Given the description of an element on the screen output the (x, y) to click on. 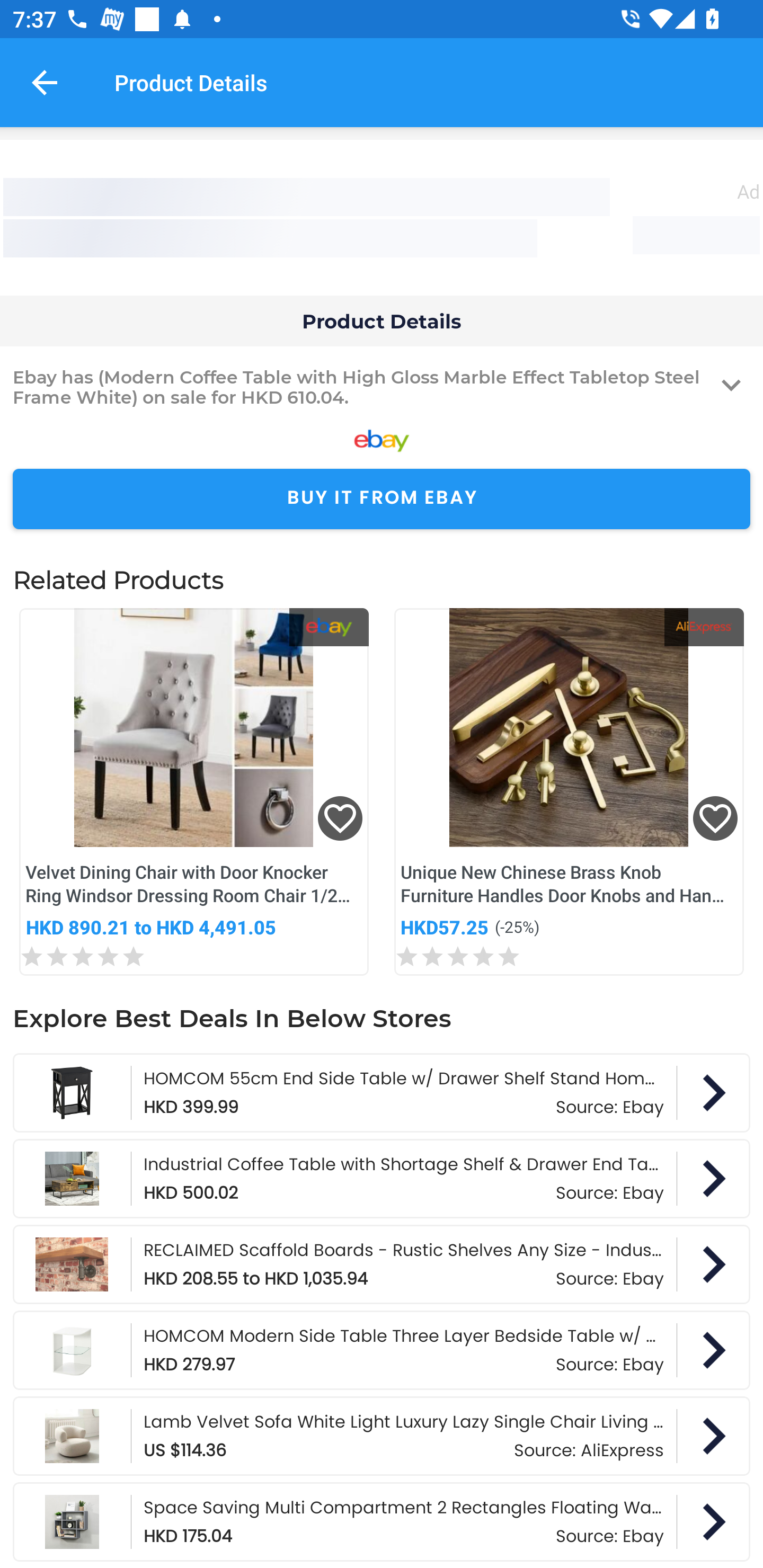
Navigate up (44, 82)
BUY IT FROM EBAY (381, 499)
